Given the description of an element on the screen output the (x, y) to click on. 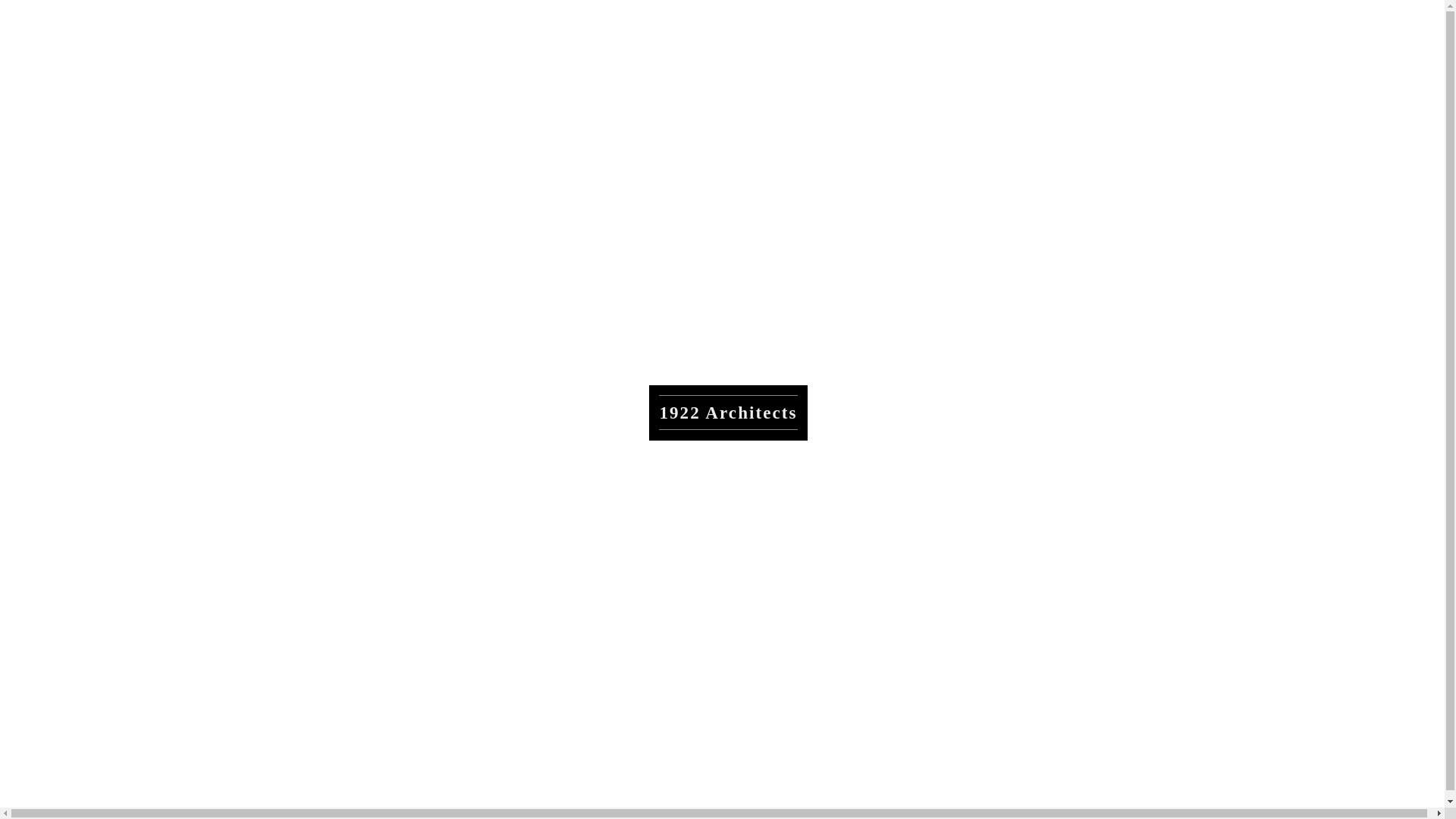
1922 Architects Element type: text (727, 412)
